Given the description of an element on the screen output the (x, y) to click on. 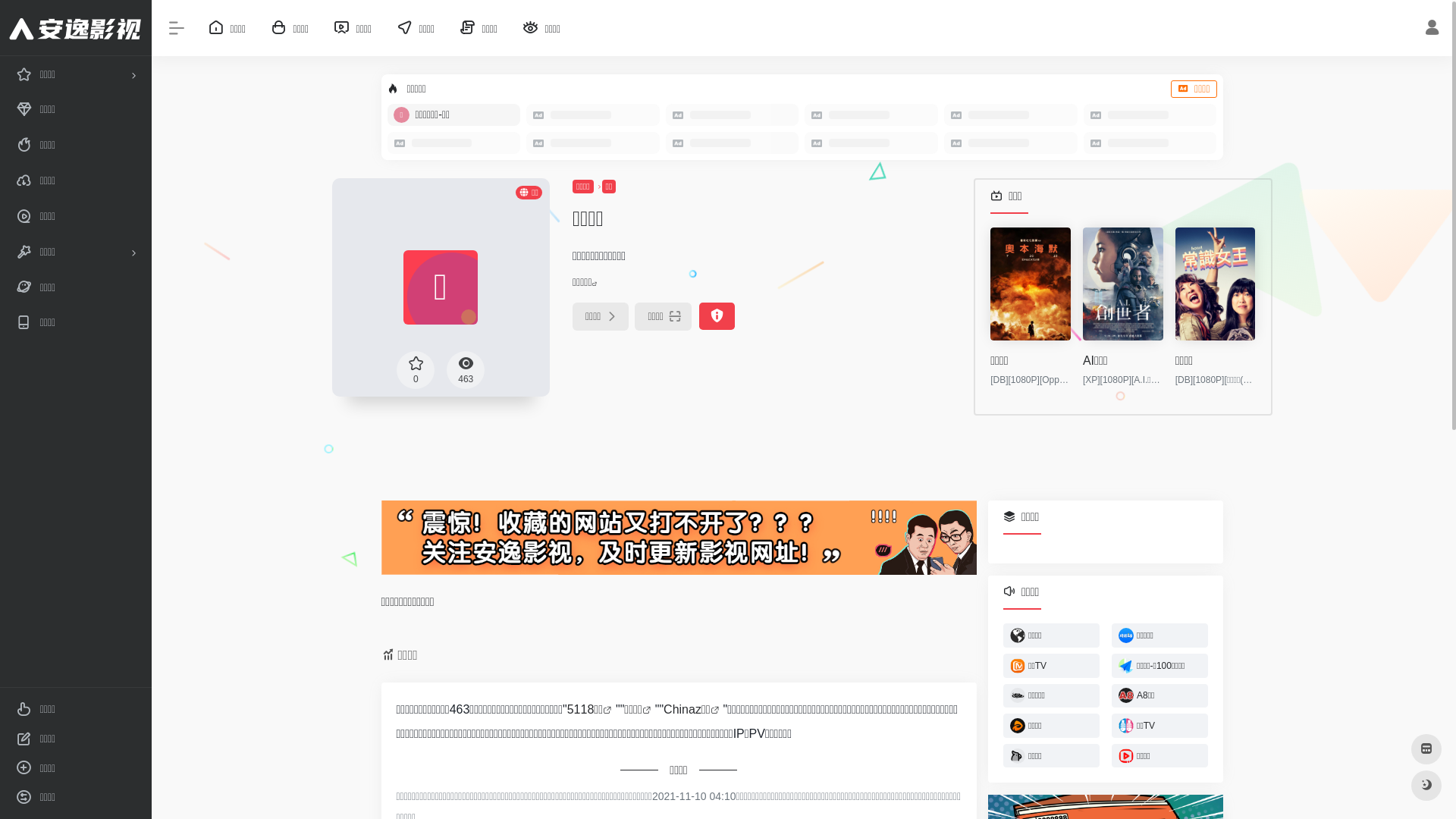
463 Element type: text (465, 369)
0 Element type: text (415, 369)
